Given the description of an element on the screen output the (x, y) to click on. 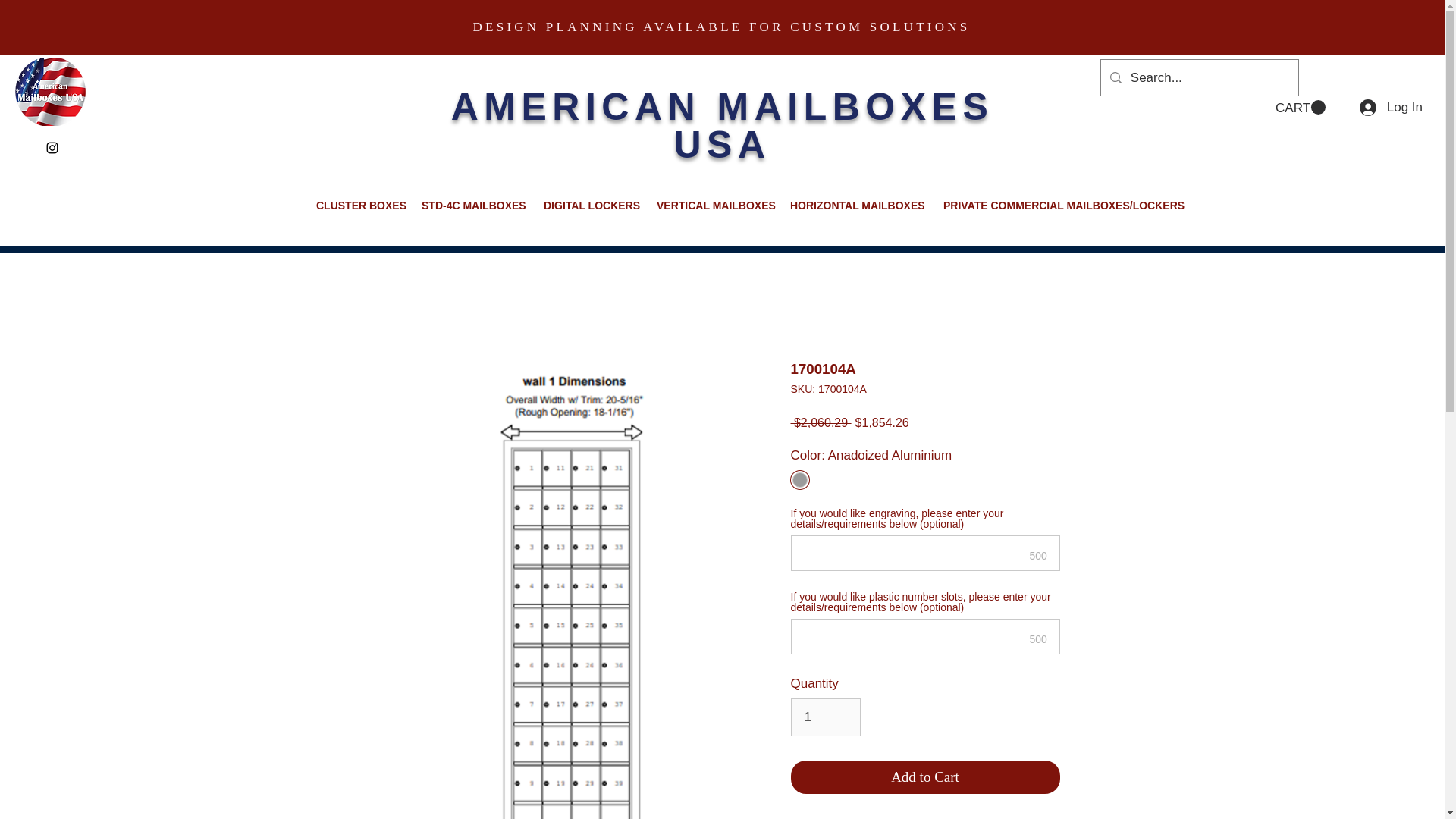
AMERICAN MAILBOXES USA (722, 125)
STD-4C MAILBOXES (471, 205)
VERTICAL MAILBOXES (711, 205)
CART (1299, 107)
1 (825, 716)
Log In (1390, 107)
Add to Cart (924, 777)
DIGITAL LOCKERS (588, 205)
CART (1299, 107)
CLUSTER BOXES (357, 205)
